Given the description of an element on the screen output the (x, y) to click on. 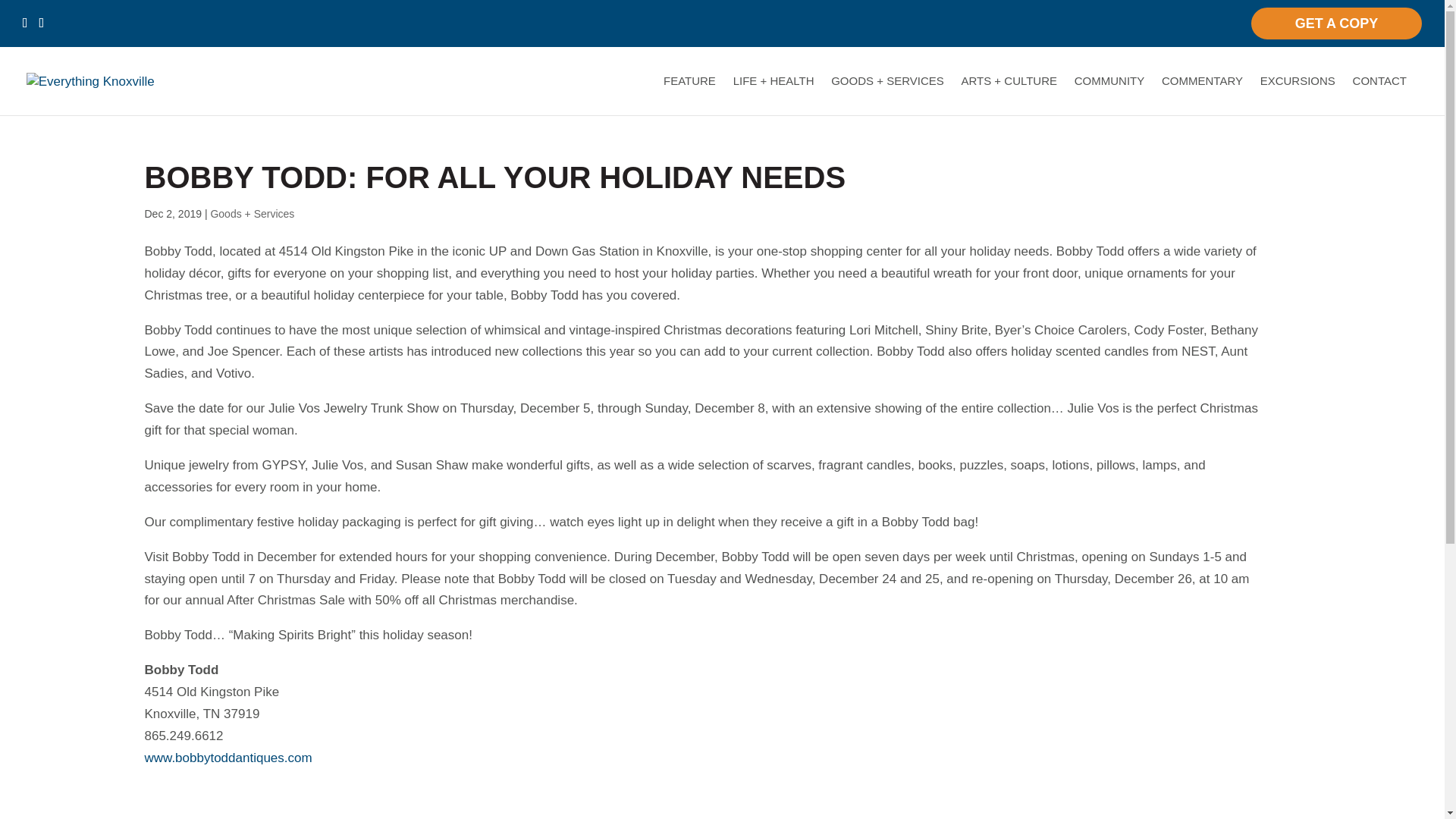
CONTACT (1379, 95)
EXCURSIONS (1297, 95)
FEATURE (689, 95)
GET A COPY (1336, 23)
www.bobbytoddantiques.com (227, 757)
COMMENTARY (1202, 95)
COMMUNITY (1109, 95)
